Given the description of an element on the screen output the (x, y) to click on. 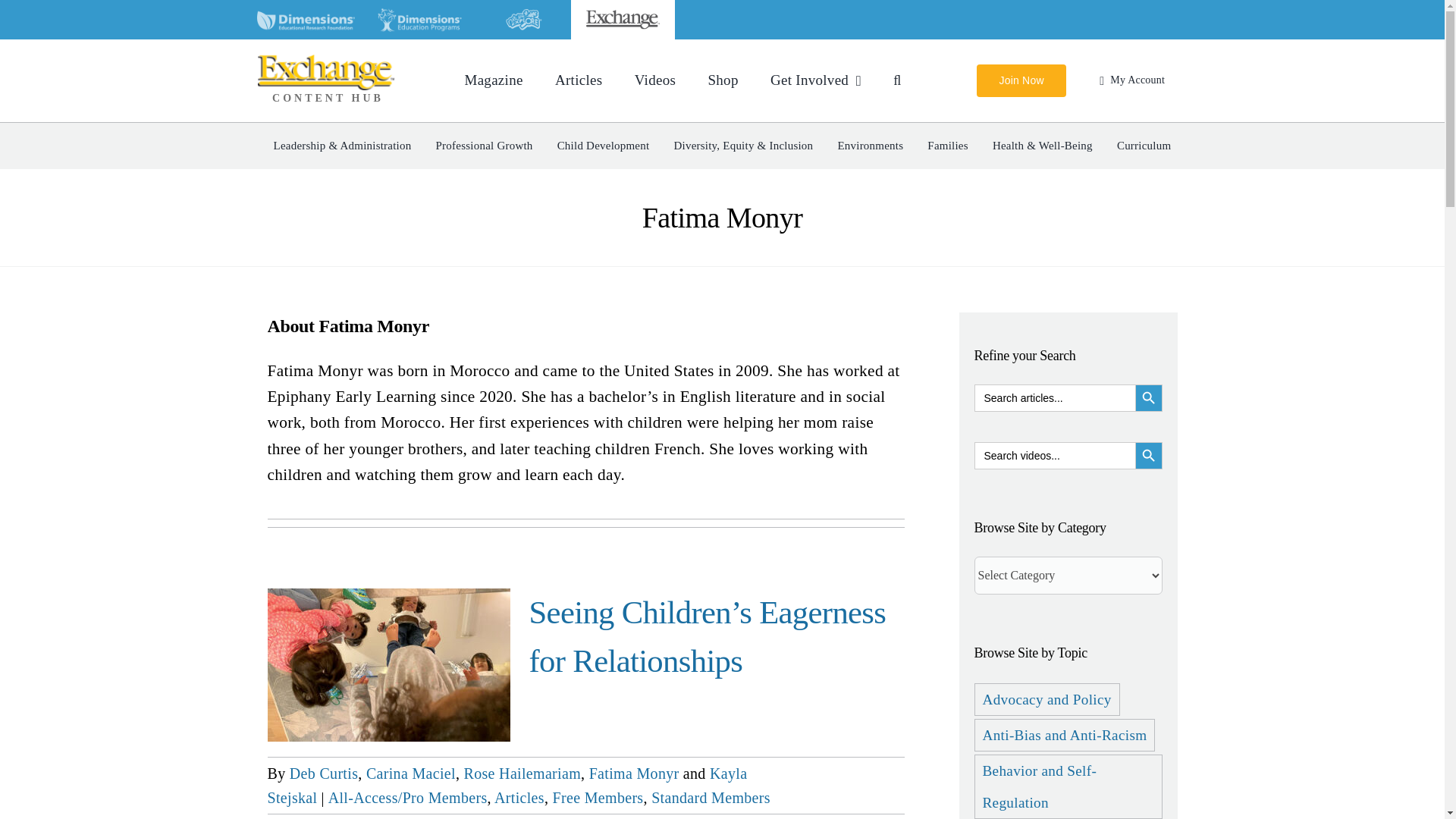
Get Involved (815, 80)
Magazine (493, 80)
Join Now (1020, 80)
My Account (1128, 80)
